Given the description of an element on the screen output the (x, y) to click on. 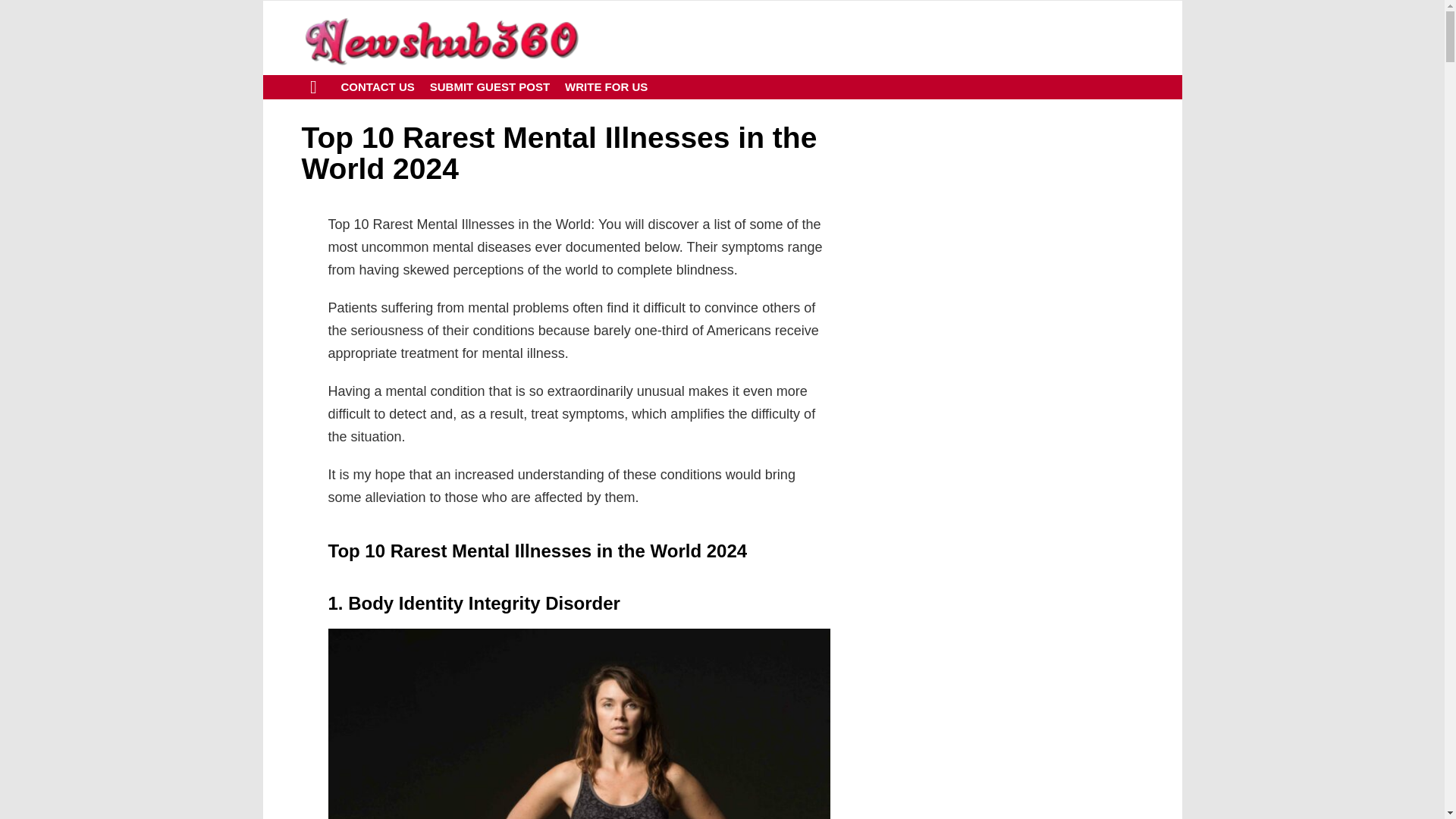
SUBMIT GUEST POST (489, 87)
WRITE FOR US (606, 87)
Menu (313, 87)
CONTACT US (377, 87)
